Given the description of an element on the screen output the (x, y) to click on. 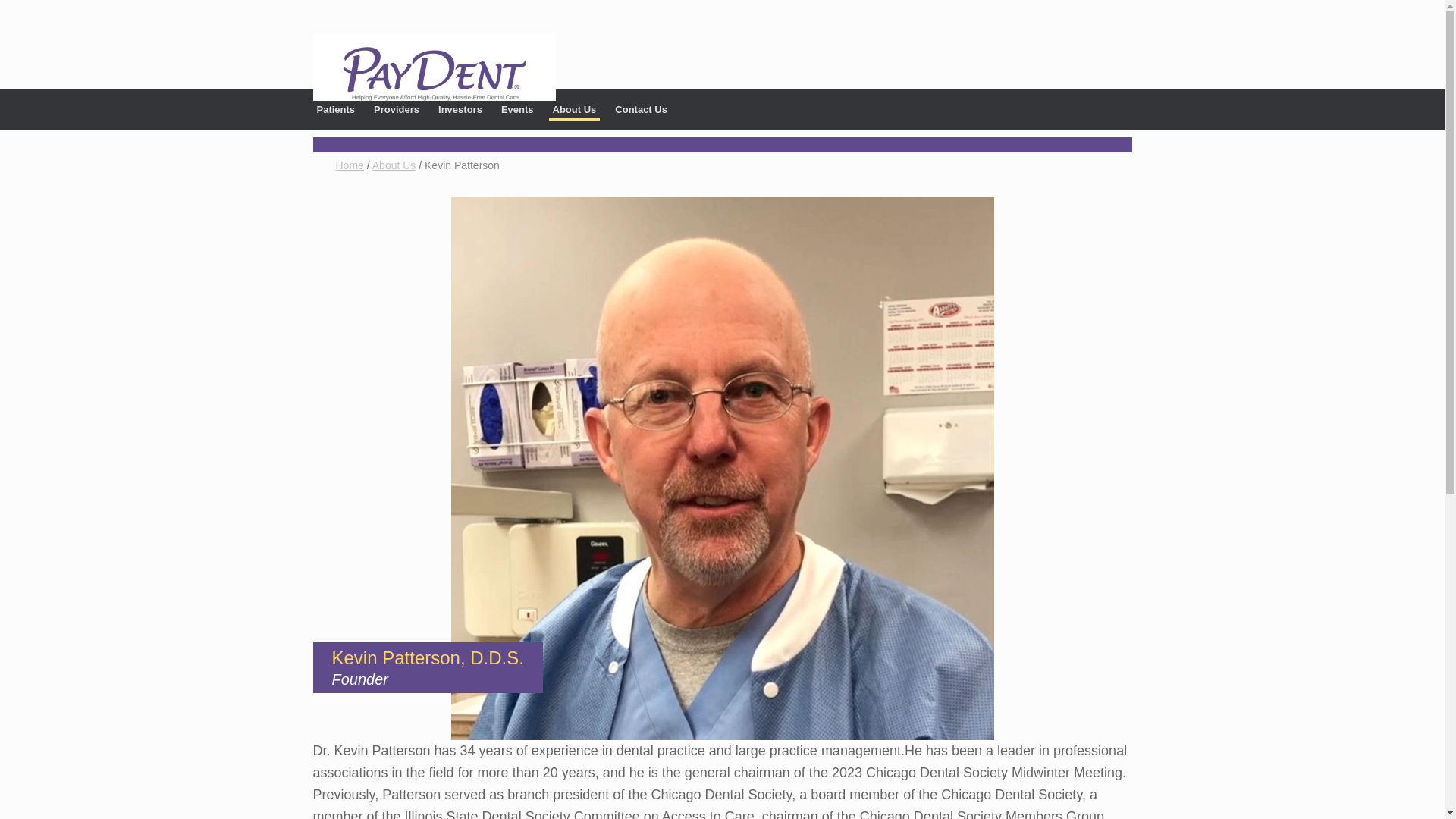
Providers (396, 103)
Investors (459, 103)
Patients (335, 103)
Events (517, 103)
Contact Us (641, 103)
Home (348, 164)
PayDent (433, 67)
About Us (573, 104)
